Given the description of an element on the screen output the (x, y) to click on. 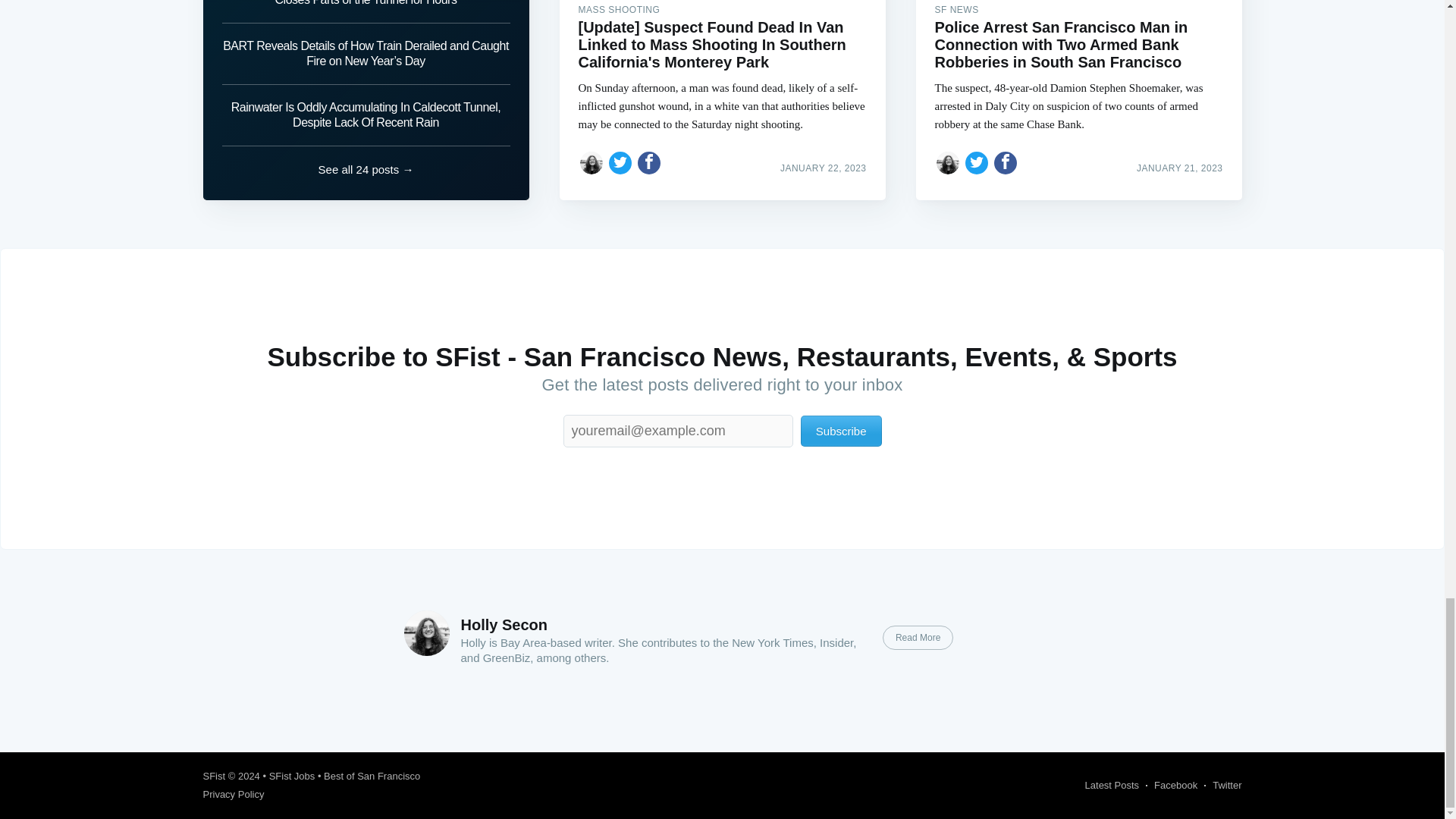
Share on Twitter (620, 162)
Share on Facebook (649, 162)
Share on Facebook (1004, 162)
Share on Twitter (976, 162)
